Given the description of an element on the screen output the (x, y) to click on. 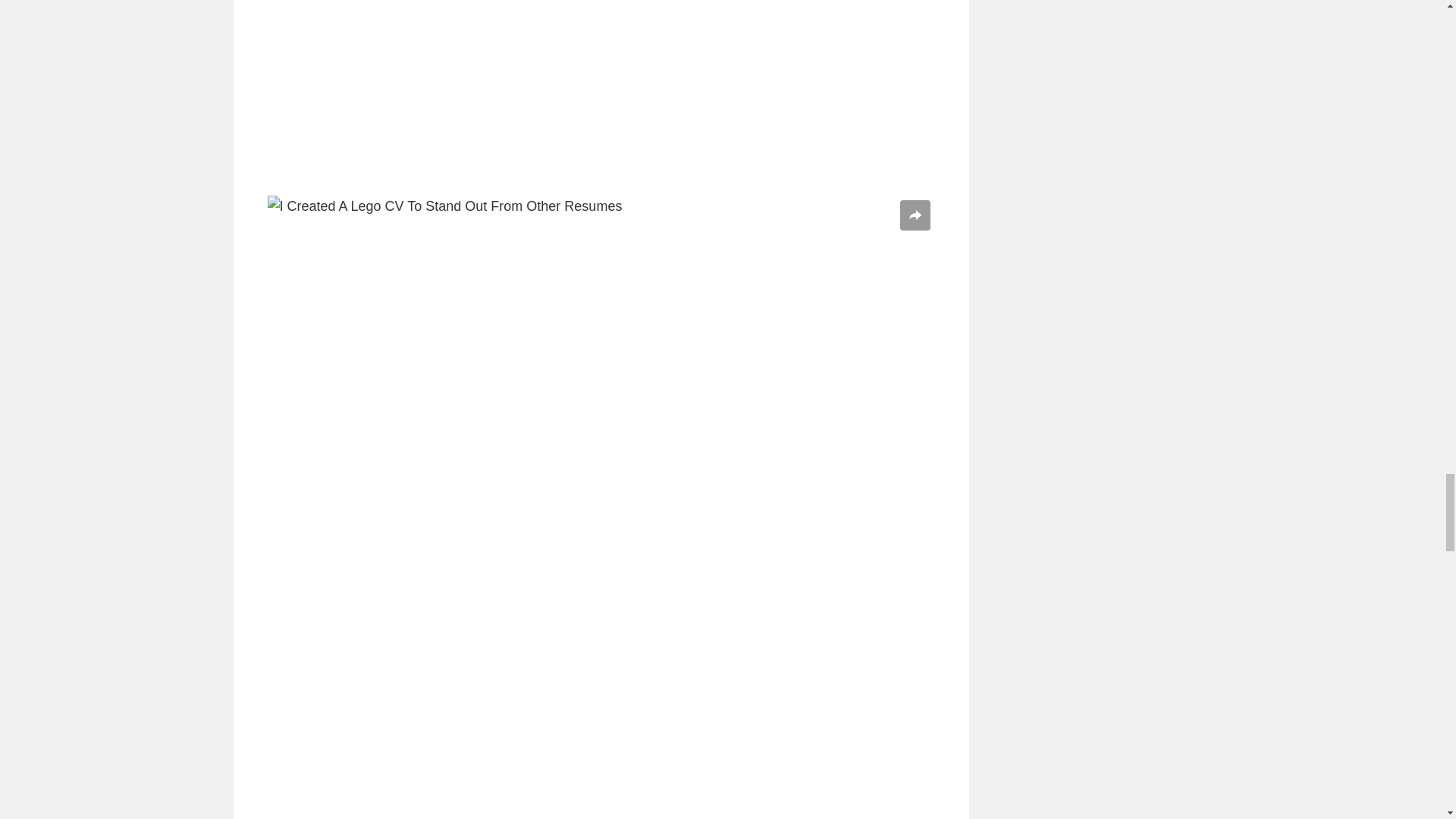
I Created A Lego CV To Stand Out From Other Resumes (600, 92)
Share icon (914, 215)
